Given the description of an element on the screen output the (x, y) to click on. 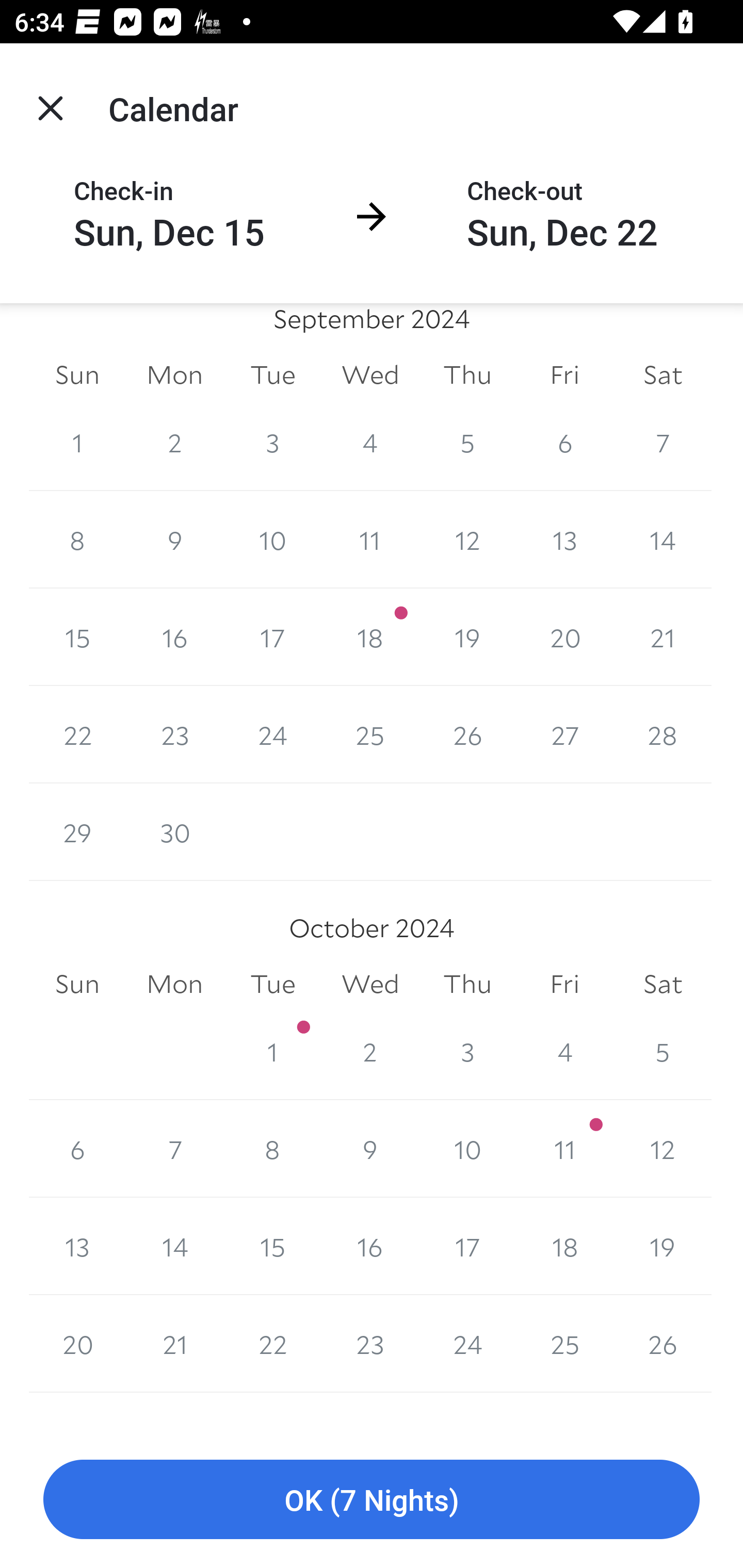
Sun (77, 374)
Mon (174, 374)
Tue (272, 374)
Wed (370, 374)
Thu (467, 374)
Fri (564, 374)
Sat (662, 374)
1 1 September 2024 (77, 441)
2 2 September 2024 (174, 441)
3 3 September 2024 (272, 441)
4 4 September 2024 (370, 441)
5 5 September 2024 (467, 441)
6 6 September 2024 (564, 441)
7 7 September 2024 (662, 441)
8 8 September 2024 (77, 539)
9 9 September 2024 (174, 539)
10 10 September 2024 (272, 539)
11 11 September 2024 (370, 539)
12 12 September 2024 (467, 539)
13 13 September 2024 (564, 539)
14 14 September 2024 (662, 539)
15 15 September 2024 (77, 637)
16 16 September 2024 (174, 637)
17 17 September 2024 (272, 637)
18 18 September 2024 (370, 637)
19 19 September 2024 (467, 637)
20 20 September 2024 (564, 637)
21 21 September 2024 (662, 637)
22 22 September 2024 (77, 735)
23 23 September 2024 (174, 735)
24 24 September 2024 (272, 735)
25 25 September 2024 (370, 735)
26 26 September 2024 (467, 735)
27 27 September 2024 (564, 735)
28 28 September 2024 (662, 735)
29 29 September 2024 (77, 832)
30 30 September 2024 (174, 832)
Sun (77, 983)
Mon (174, 983)
Tue (272, 983)
Wed (370, 983)
Thu (467, 983)
Fri (564, 983)
Sat (662, 983)
1 1 October 2024 (272, 1050)
2 2 October 2024 (370, 1050)
3 3 October 2024 (467, 1050)
4 4 October 2024 (564, 1050)
5 5 October 2024 (662, 1050)
